Given the description of an element on the screen output the (x, y) to click on. 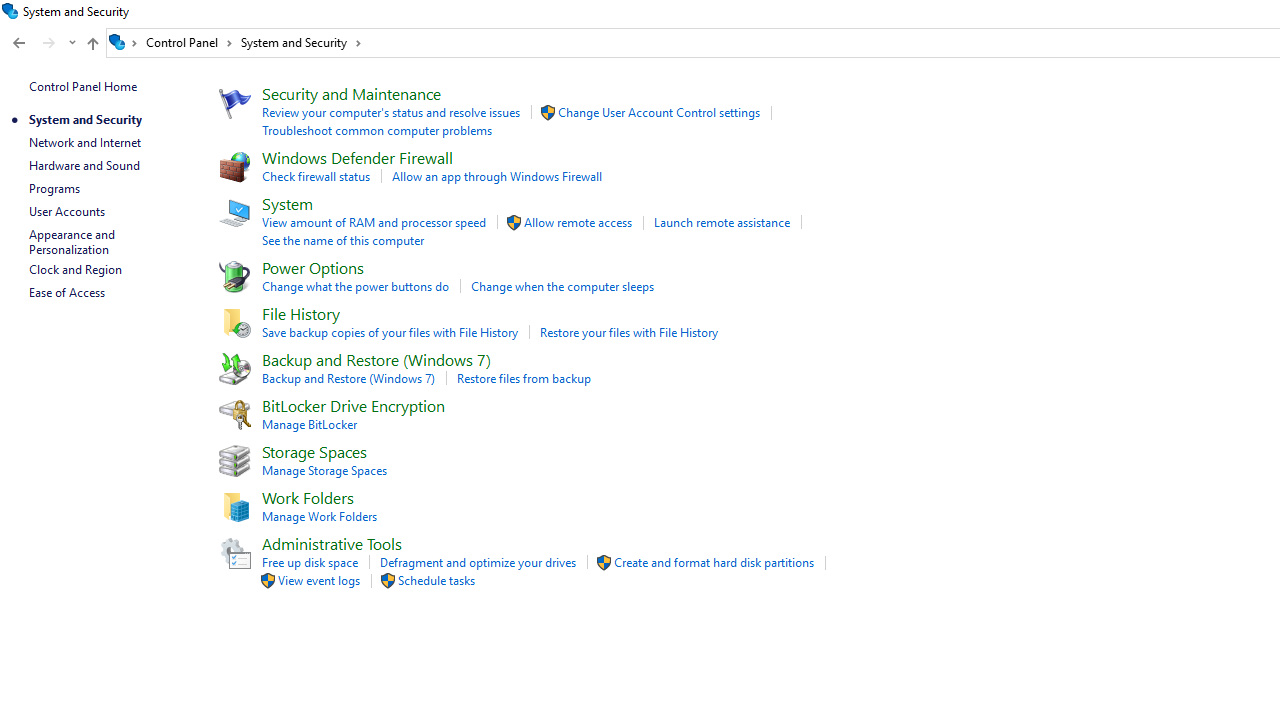
Work Folders (307, 497)
Up band toolbar (92, 46)
Icon (232, 551)
System (10, 11)
Clock and Region (75, 269)
System (10, 11)
Programs (53, 187)
Allow an app through Windows Firewall (497, 176)
